Given the description of an element on the screen output the (x, y) to click on. 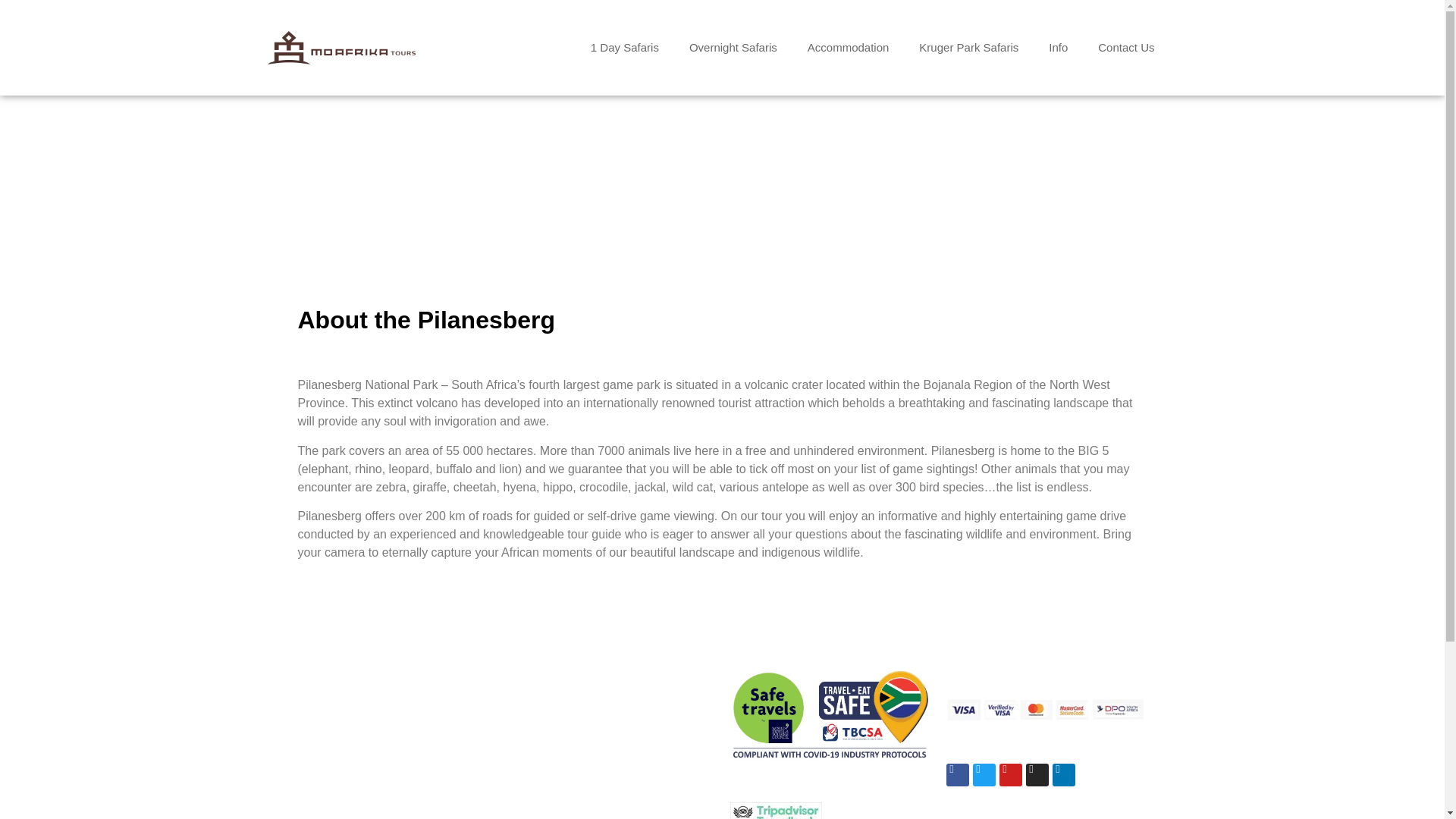
Climate (533, 724)
Overnight Safaris (733, 47)
Accommodation (848, 47)
What to Pack (549, 742)
1 Day Safaris (624, 47)
Bookings (538, 802)
Open Vehicle Tour (346, 724)
Contact Us (1126, 47)
Kruger Park Safaris (968, 47)
Ultimate Open Vehicle Tour (370, 742)
About Pilanesberg (562, 706)
Info (1058, 47)
Closed vehicle tour (348, 706)
